Given the description of an element on the screen output the (x, y) to click on. 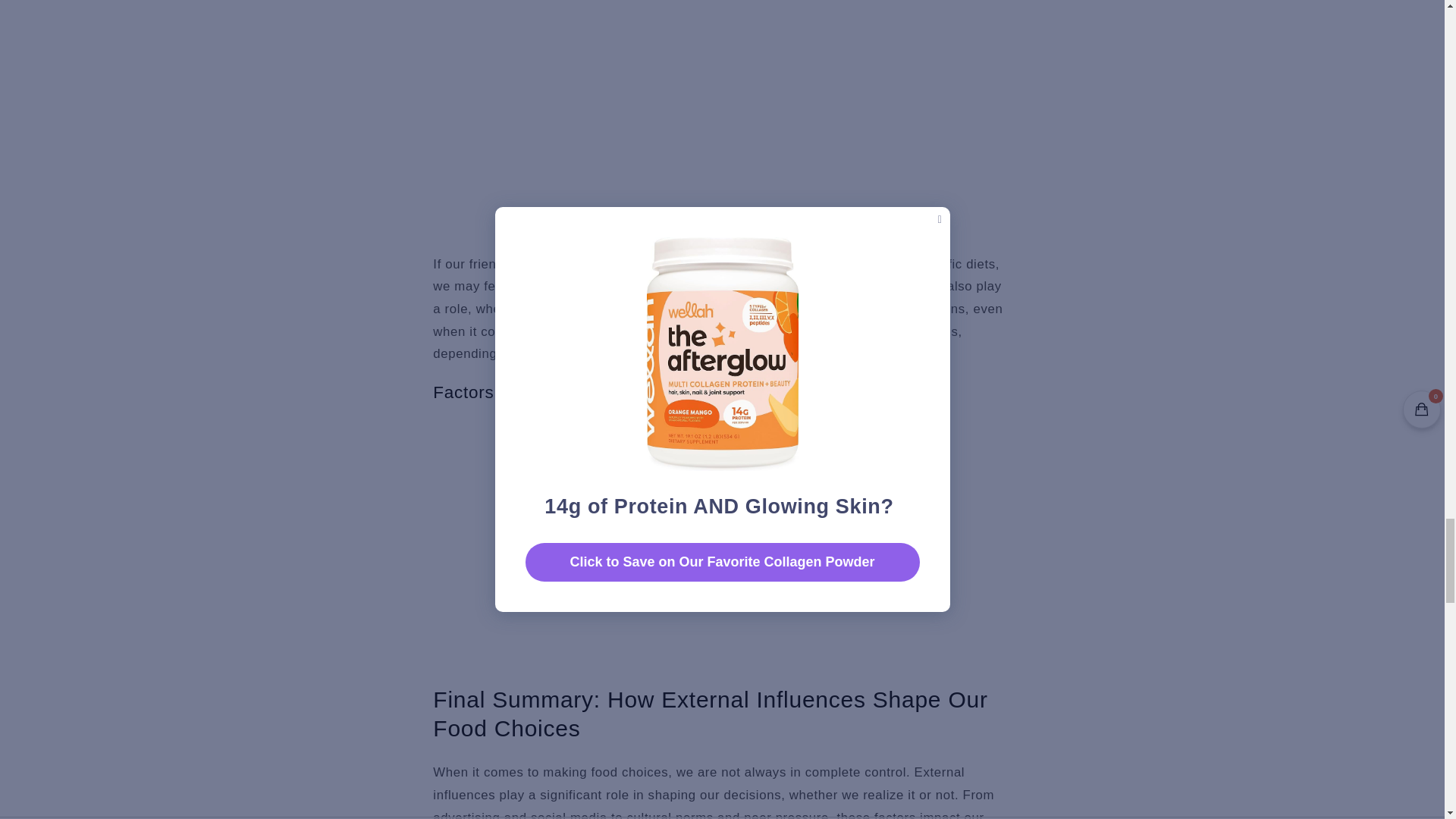
Factors that influence eating habits and food choices (644, 540)
